Given the description of an element on the screen output the (x, y) to click on. 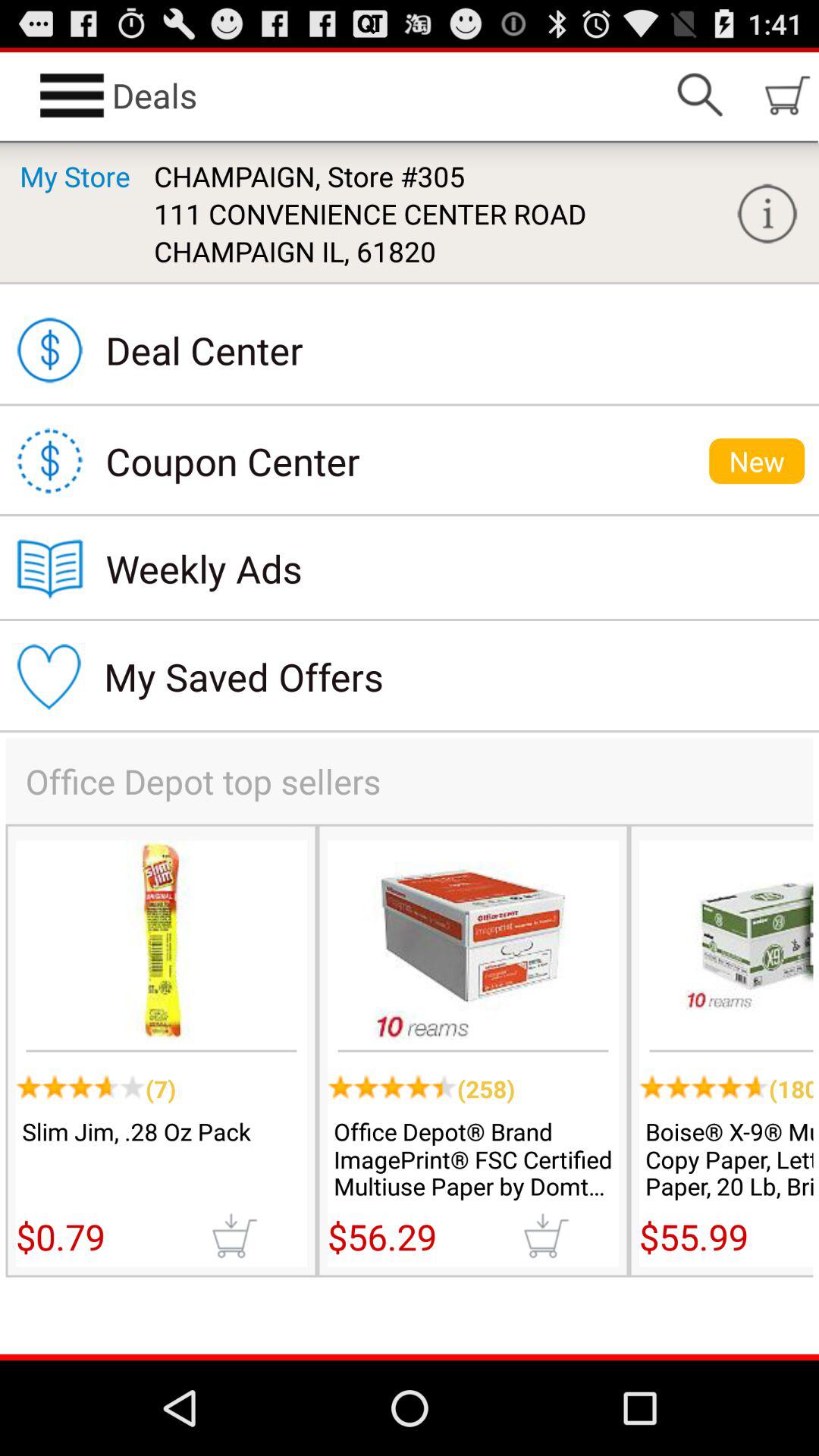
help (767, 213)
